Given the description of an element on the screen output the (x, y) to click on. 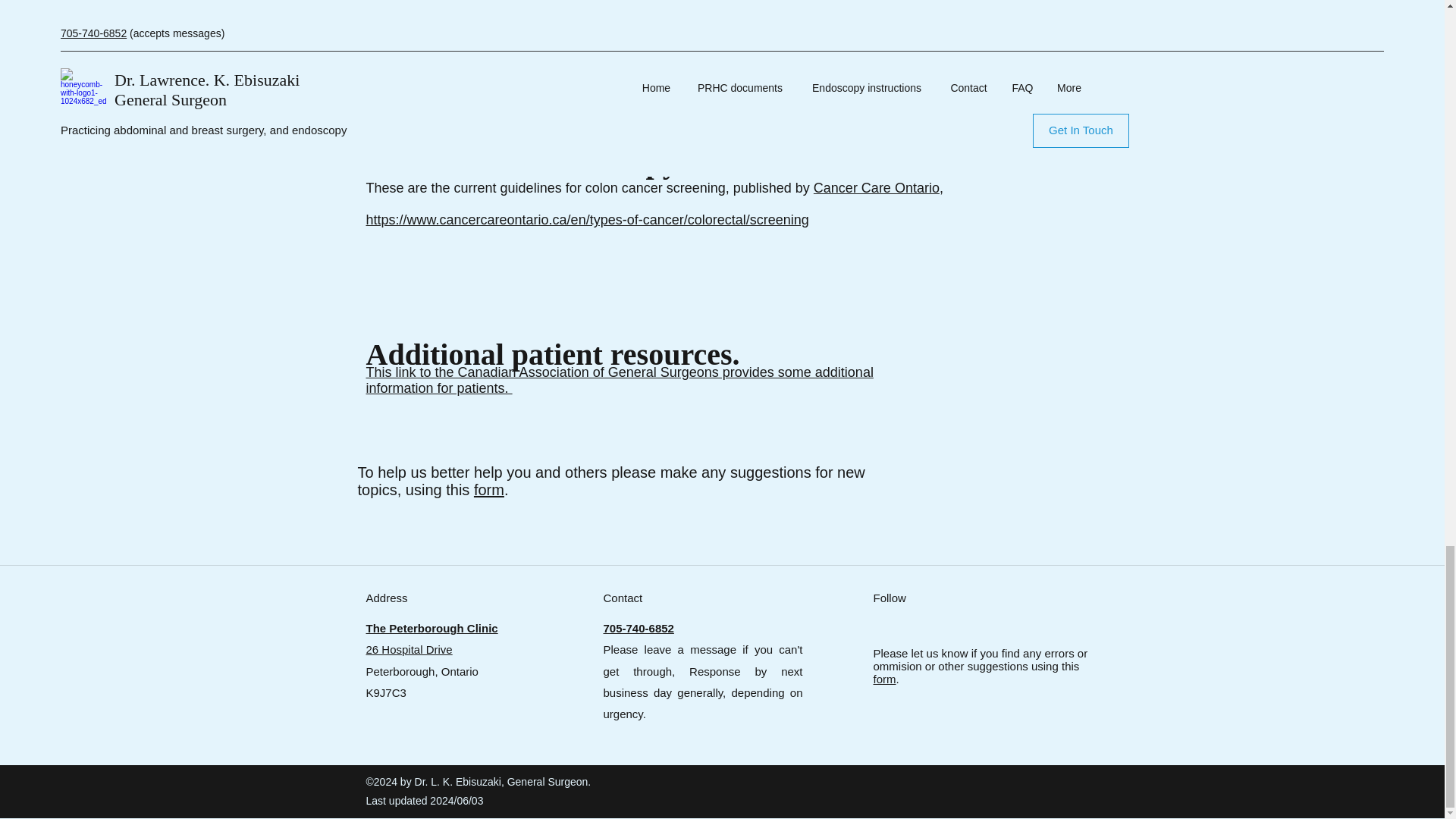
Cancer Care Ontario (876, 187)
form (884, 678)
The Peterborough Clinic (431, 627)
form (488, 489)
705-740-6852 (639, 627)
26 Hospital Drive (408, 649)
